Given the description of an element on the screen output the (x, y) to click on. 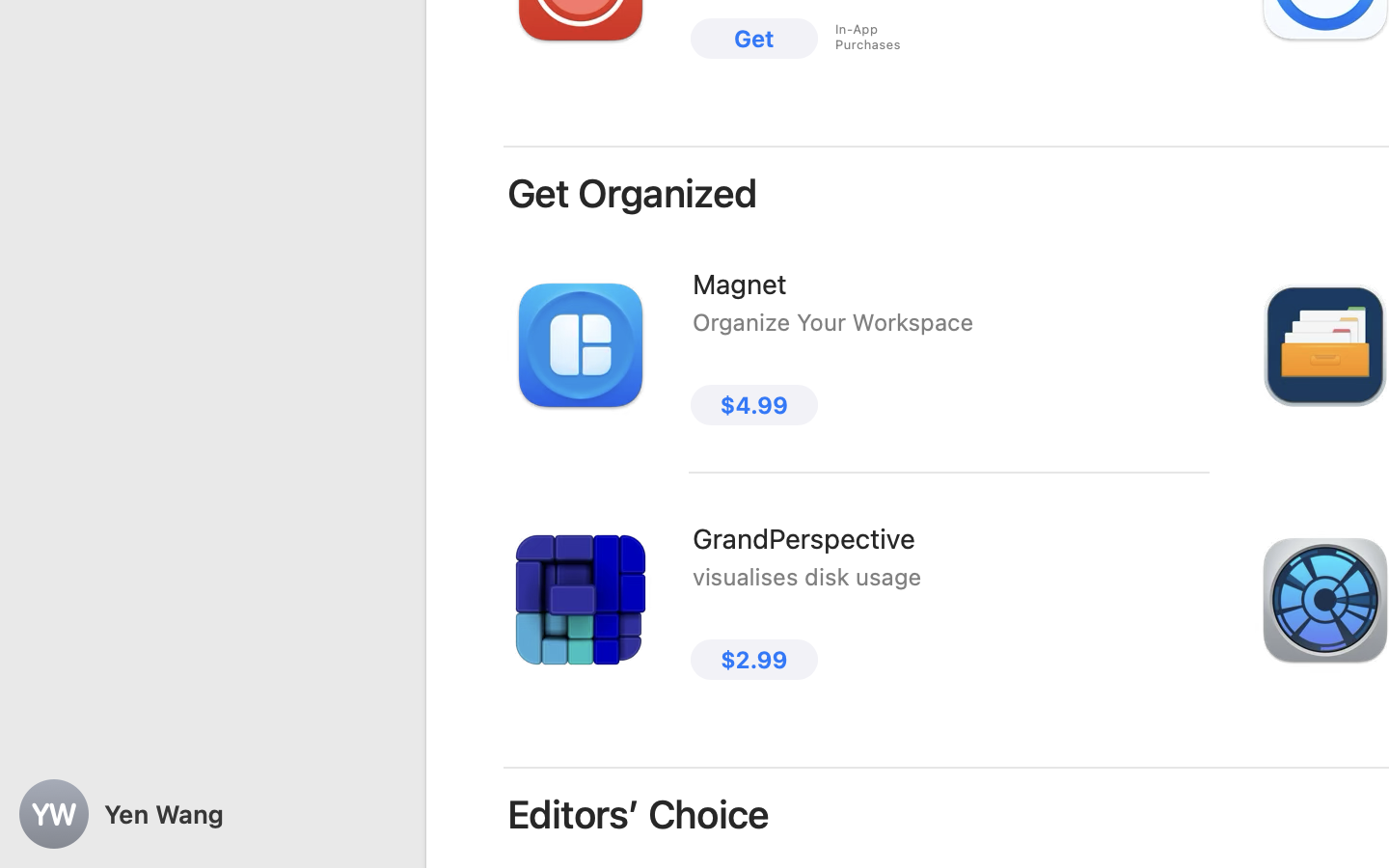
Editors’ Choice Element type: AXStaticText (638, 813)
Yen Wang Element type: AXButton (212, 813)
Get Organized Element type: AXStaticText (632, 192)
